Given the description of an element on the screen output the (x, y) to click on. 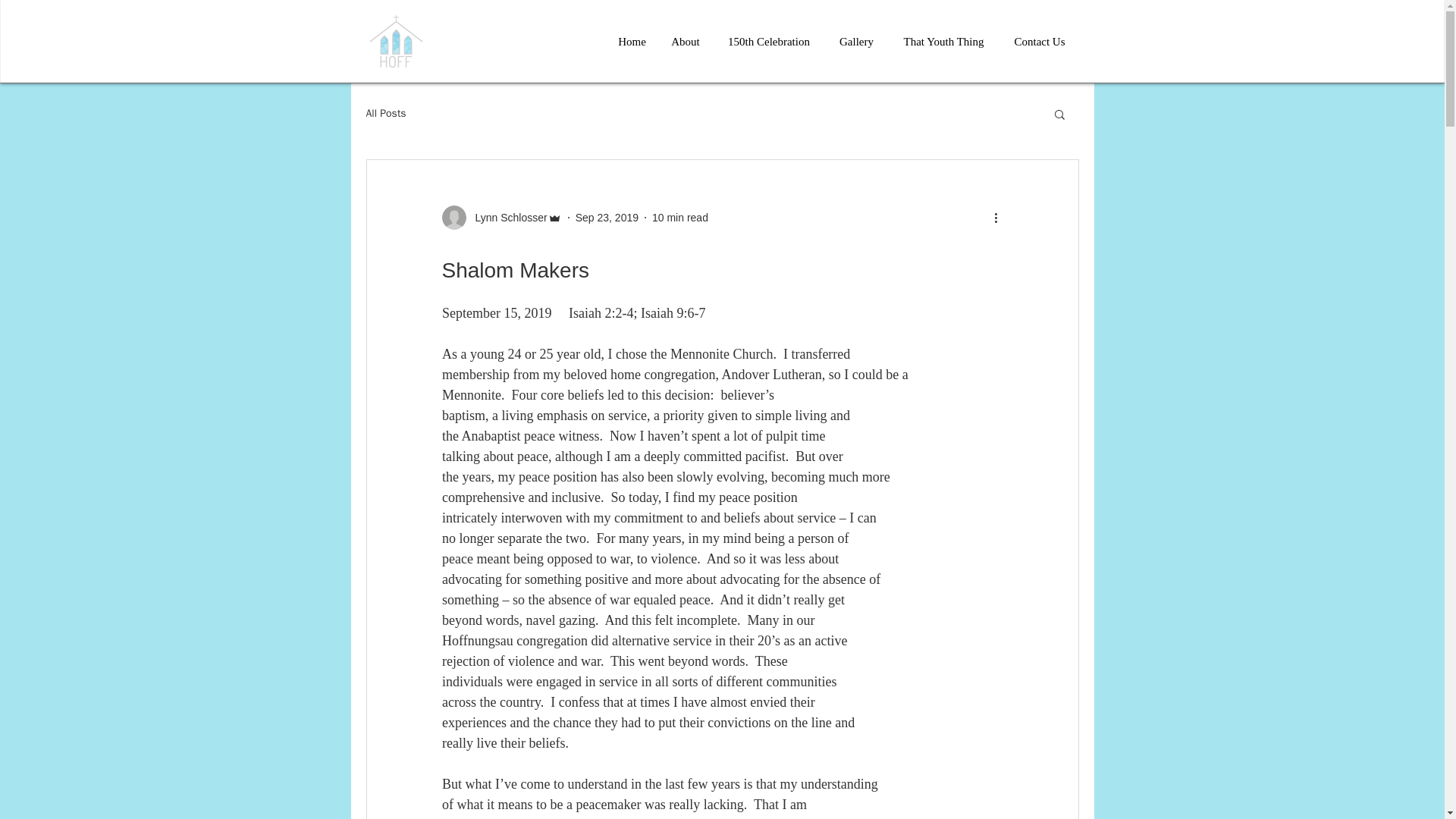
150th Celebration (768, 41)
Lynn Schlosser (506, 217)
That Youth Thing (943, 41)
Contact Us (1039, 41)
Gallery (856, 41)
Logo Final Gray with Color.png (395, 40)
Lynn Schlosser (500, 217)
Sep 23, 2019 (607, 216)
All Posts (385, 113)
Home (632, 41)
10 min read (679, 216)
About (685, 41)
